Given the description of an element on the screen output the (x, y) to click on. 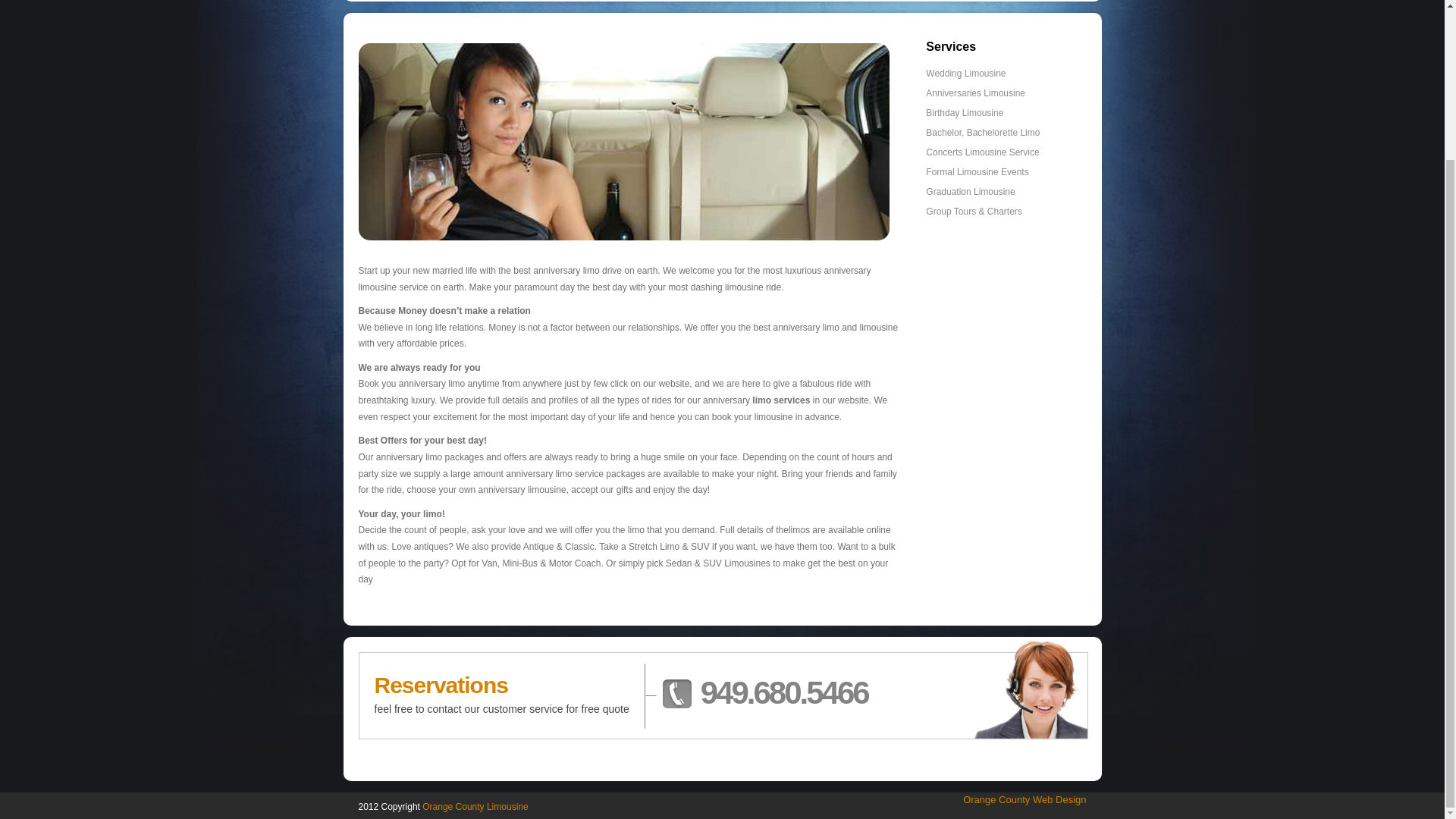
Anniversaries Limousine (975, 92)
Concerts Limousine Service (982, 152)
Orange County Web Design (1024, 799)
Orange County Limousine (474, 806)
Wedding Limousine (966, 72)
Graduation Limousine (970, 191)
Birthday Limousine (964, 112)
Orange County Web Design (1024, 799)
Formal Limousine Events (976, 172)
Ladera Ranch Limousine Service (623, 141)
Bachelor, Bachelorette Limo (982, 132)
